Given the description of an element on the screen output the (x, y) to click on. 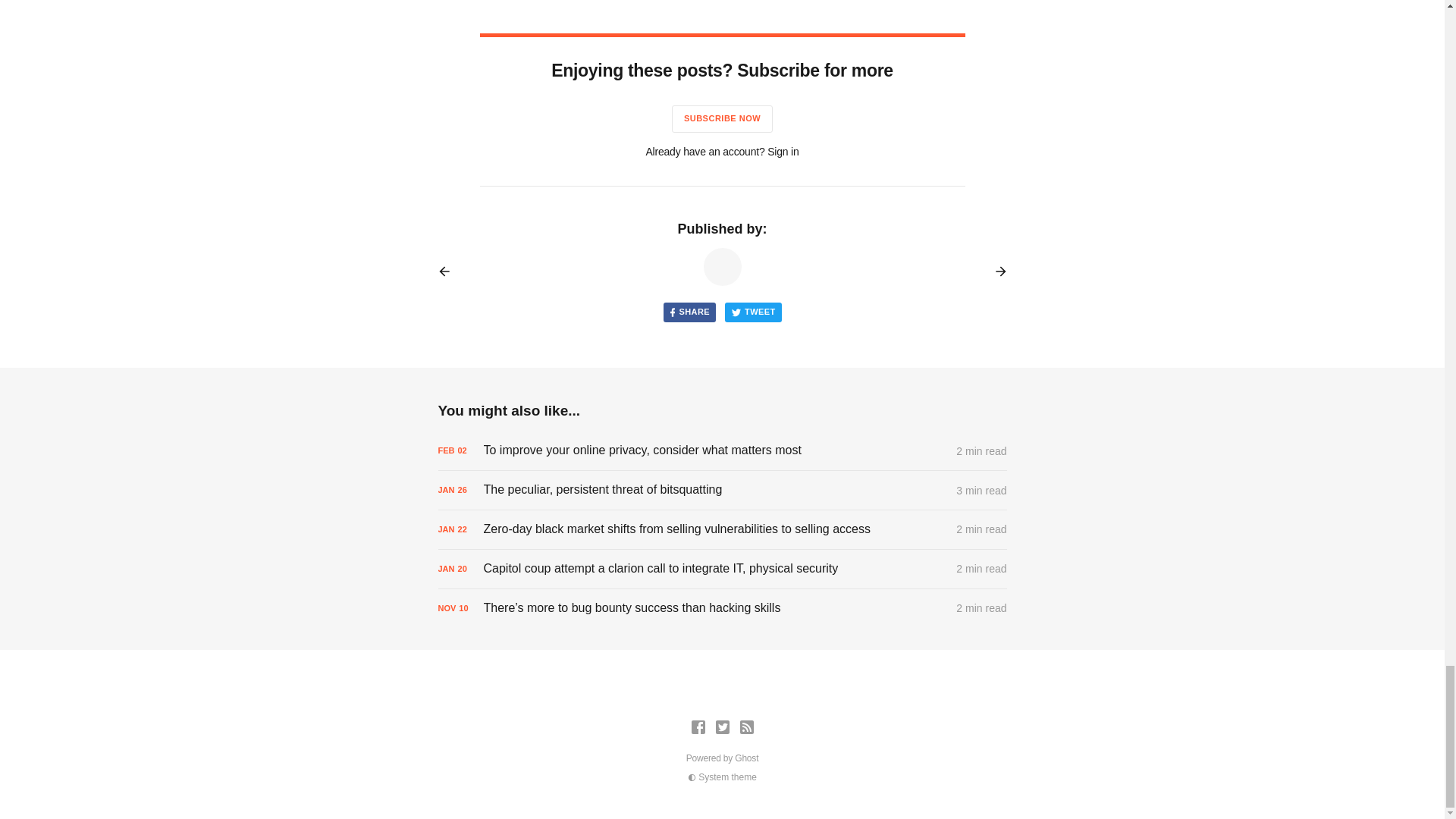
SHARE (689, 312)
TWEET (753, 312)
Ghost (746, 757)
SUBSCRIBE NOW (722, 118)
Already have an account? Sign in (721, 151)
System theme (722, 777)
